Given the description of an element on the screen output the (x, y) to click on. 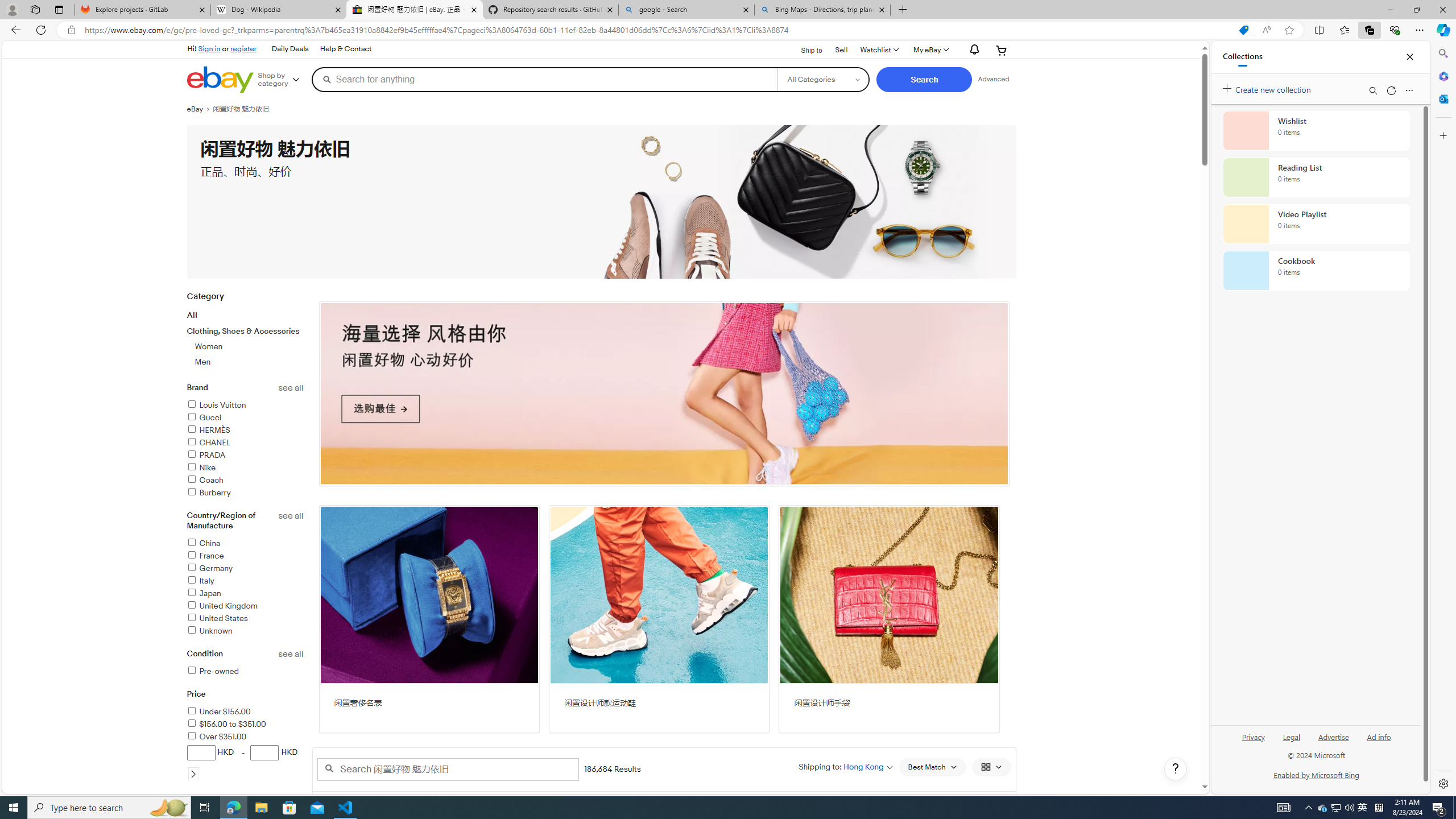
$156.00 to $351.00 (245, 724)
Pre-owned (245, 671)
PriceUnder $156.00$156.00 to $351.00Over $351.00HKD-HKD (245, 741)
Help & Contact (345, 49)
Japan (245, 593)
Ship to (804, 49)
CategoryAllClothing, Shoes & AccessoriesWomenMen (245, 335)
Cookbook collection, 0 items (1316, 270)
United Kingdom (245, 606)
